Given the description of an element on the screen output the (x, y) to click on. 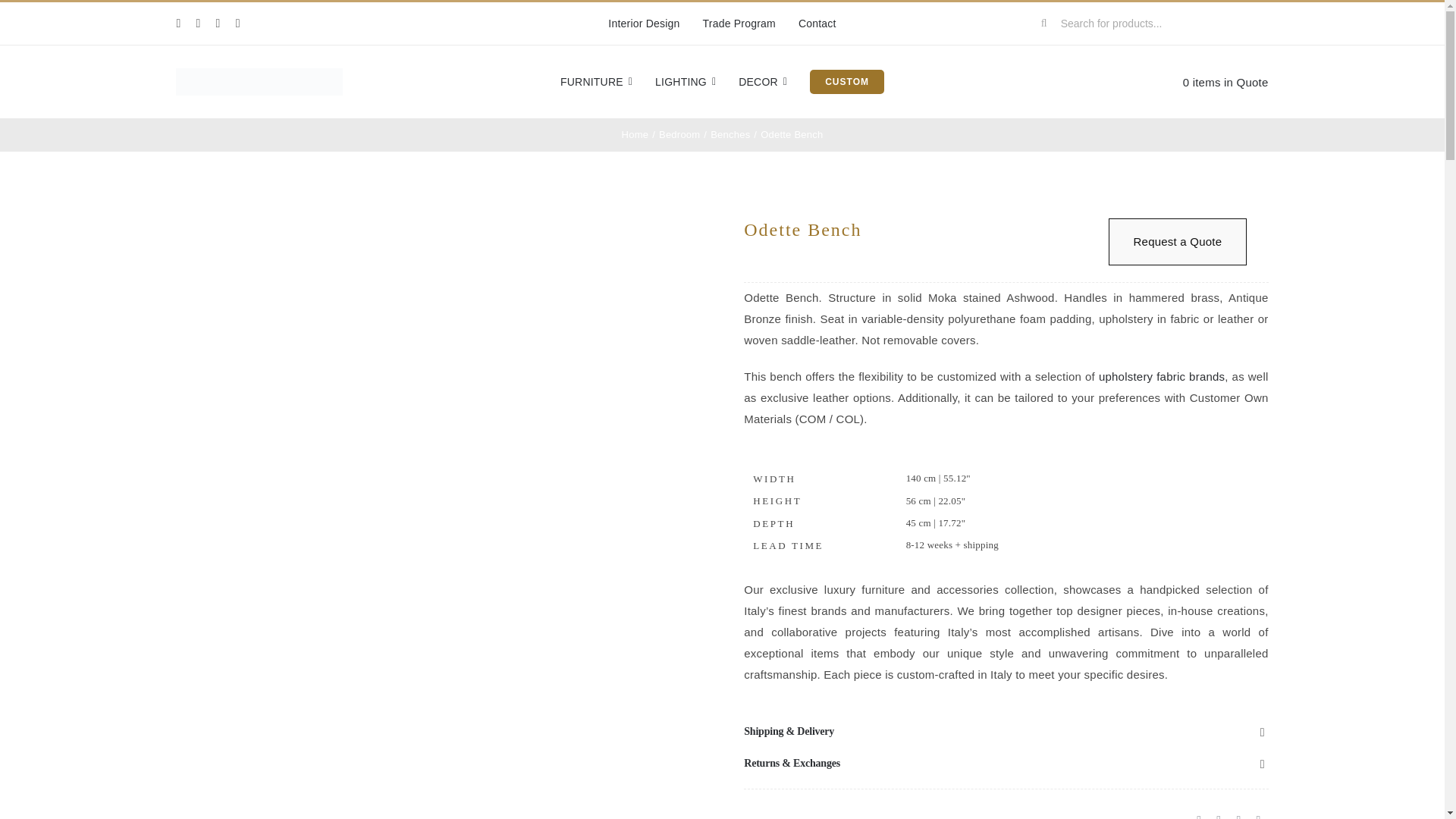
Trade Program (739, 23)
FURNITURE (595, 81)
Contact (816, 23)
Interior Design (643, 23)
